Given the description of an element on the screen output the (x, y) to click on. 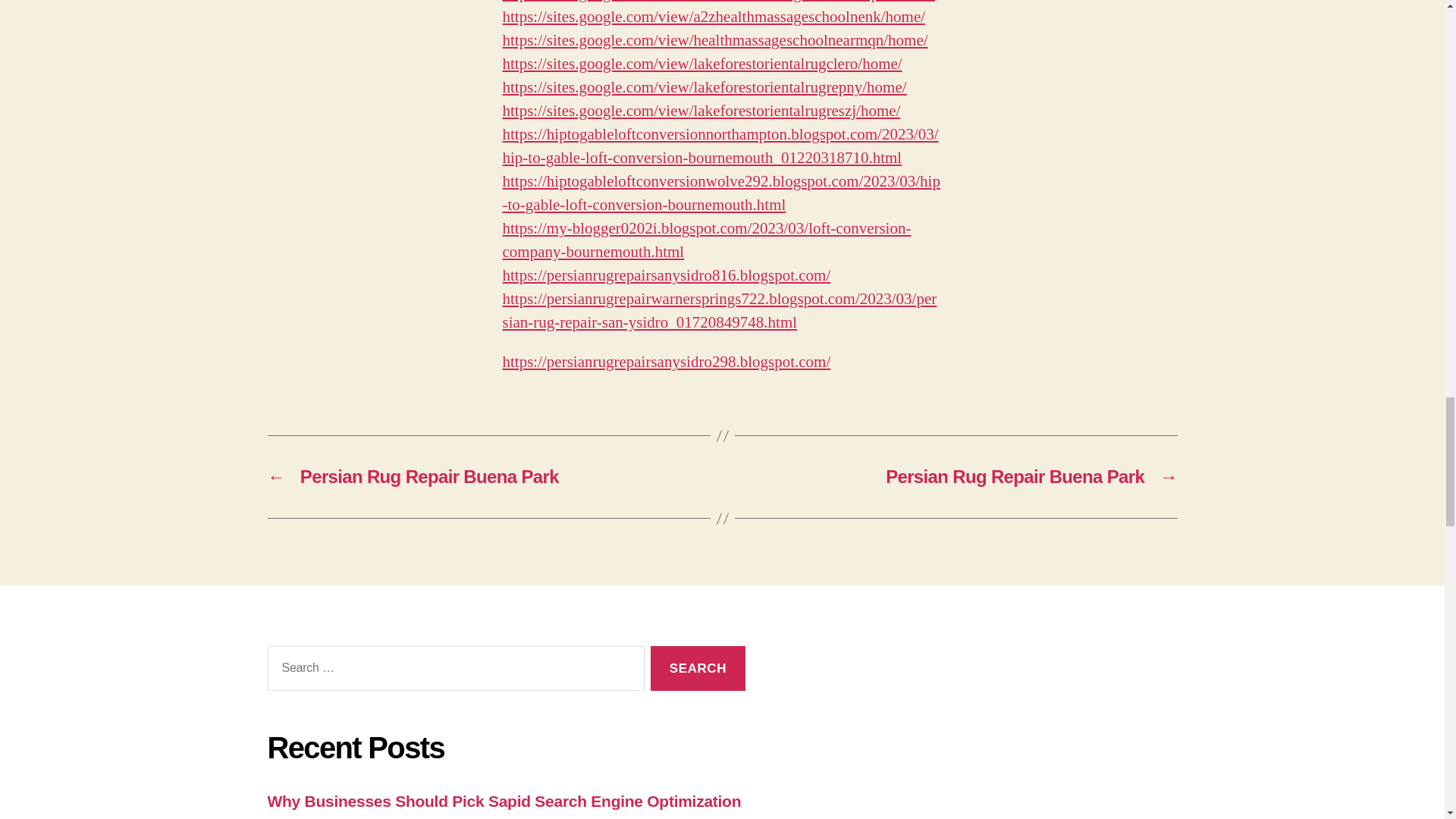
Search (697, 668)
Search (697, 668)
Search (697, 668)
